Given the description of an element on the screen output the (x, y) to click on. 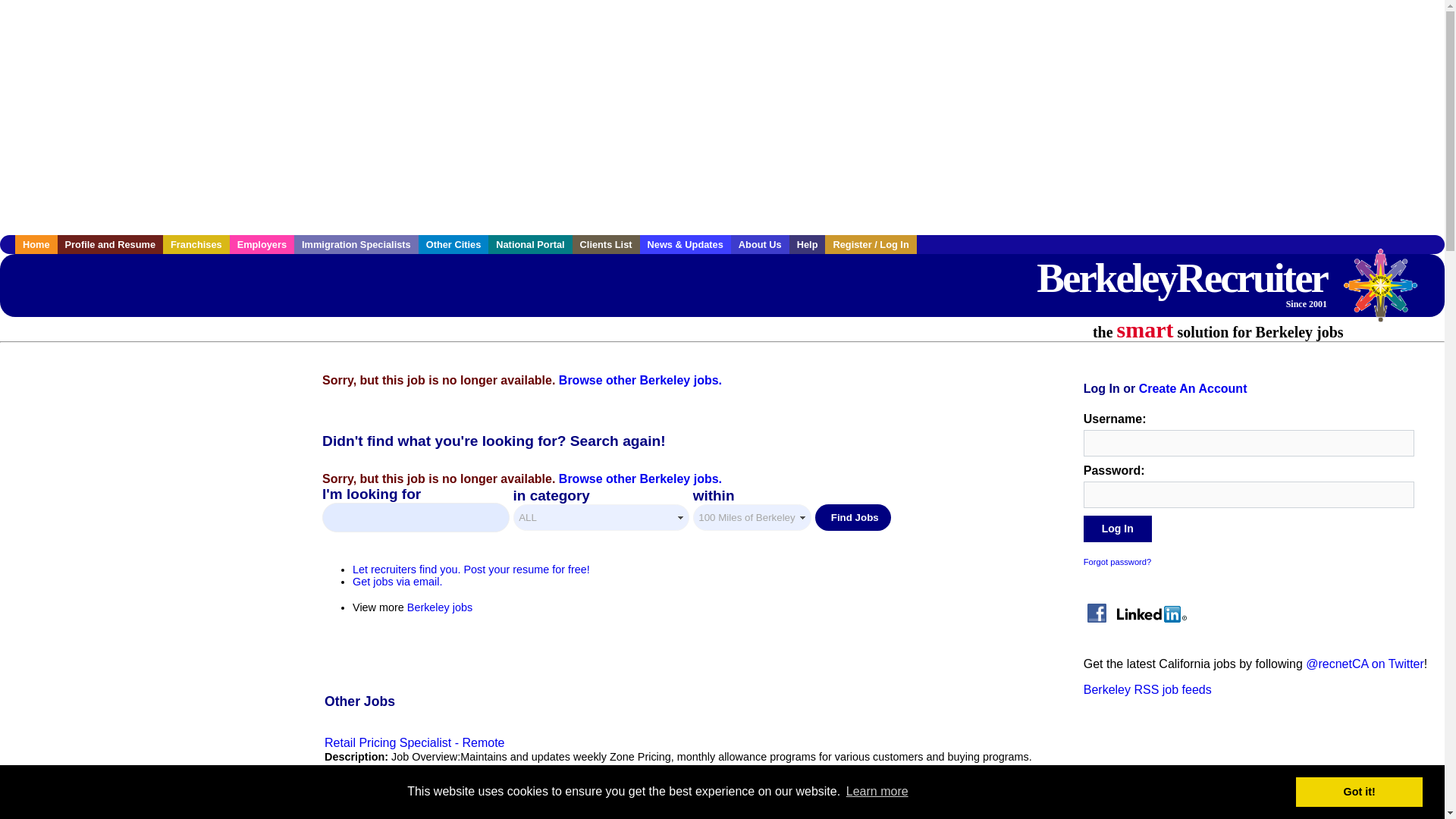
Learn more (877, 791)
Find Jobs (853, 517)
Recruiter Media, Inc. (1387, 292)
Get jobs via email. (397, 581)
Login to my Berkeley  account (870, 244)
Other Recruiter Networks Cities (454, 244)
More Berkeley  jobs (439, 607)
Log In (1117, 528)
Berkeley  job seekers (110, 244)
Find Jobs (853, 517)
Other Cities (454, 244)
Profile and Resume (110, 244)
Franchises (196, 244)
Post your  resume for free! (470, 569)
Help (807, 244)
